Given the description of an element on the screen output the (x, y) to click on. 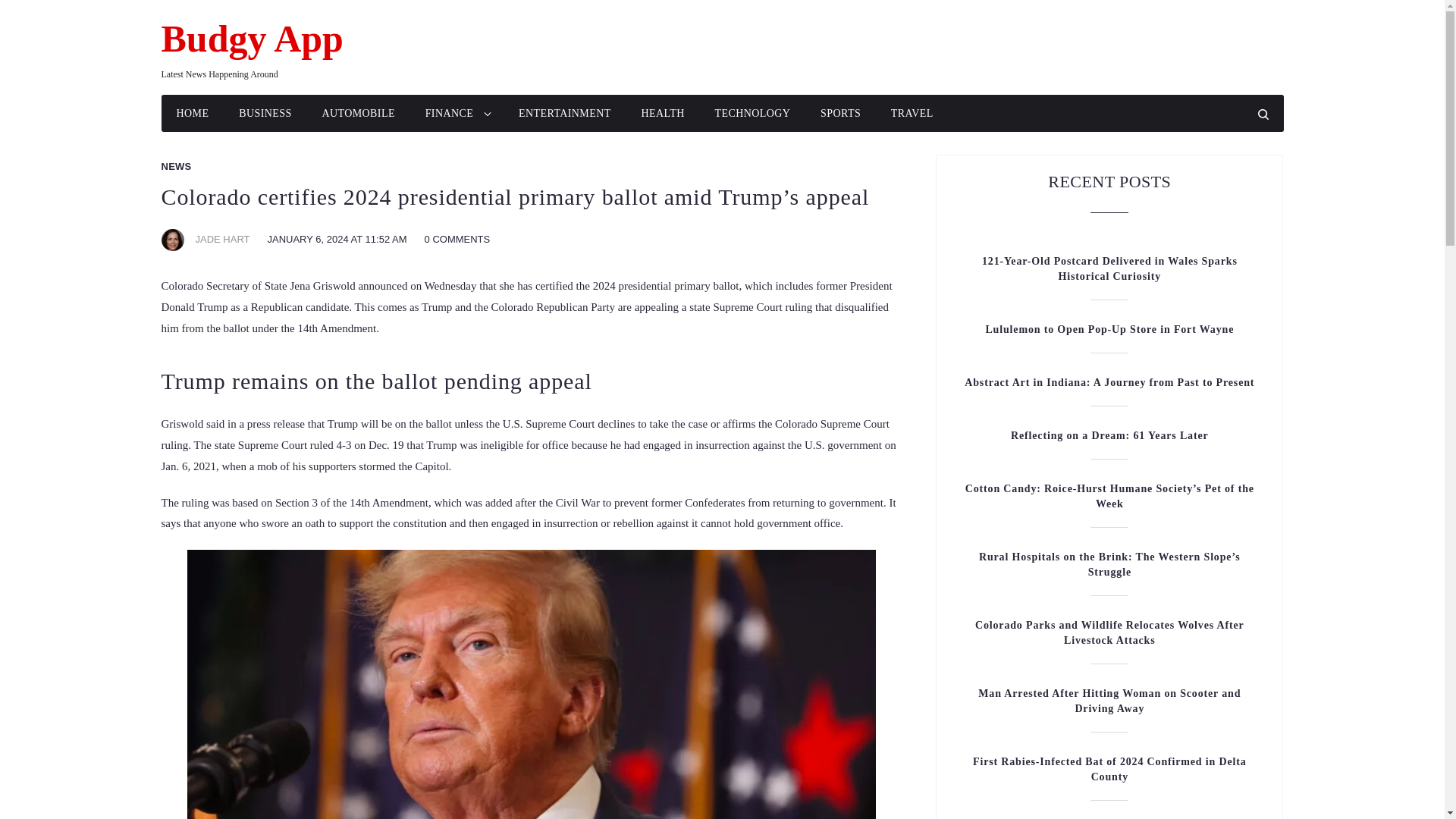
Budgy App (251, 38)
JADE HART (222, 238)
TECHNOLOGY (751, 113)
TRAVEL (912, 113)
FINANCE (456, 113)
ENTERTAINMENT (564, 113)
BUSINESS (265, 113)
AUTOMOBILE (357, 113)
HOME (192, 113)
0 COMMENTS (457, 238)
